Given the description of an element on the screen output the (x, y) to click on. 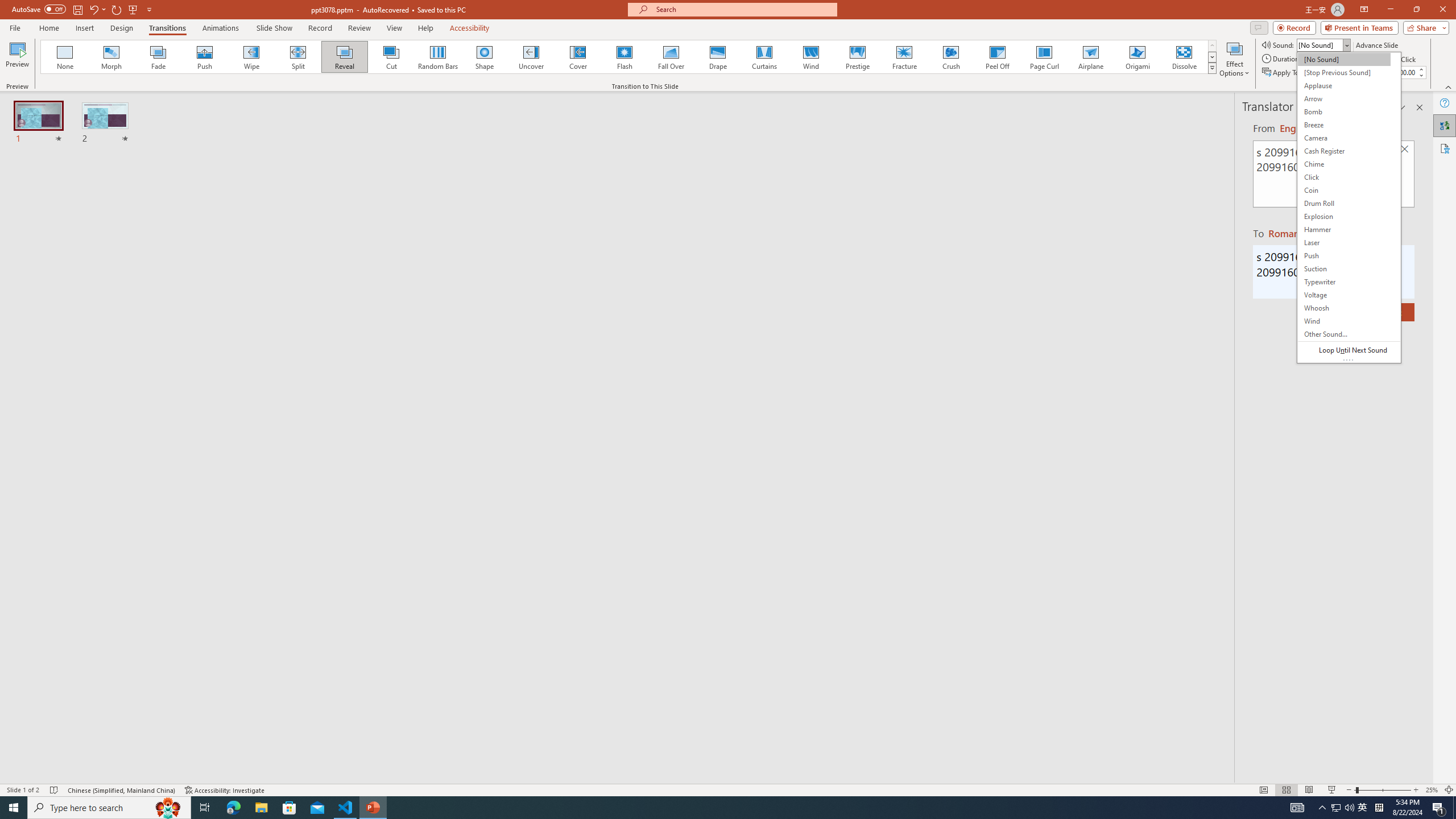
Drape (717, 56)
Curtains (764, 56)
Sound (1324, 44)
Wind (810, 56)
Uncover (531, 56)
Fall Over (670, 56)
Origami (1136, 56)
